Given the description of an element on the screen output the (x, y) to click on. 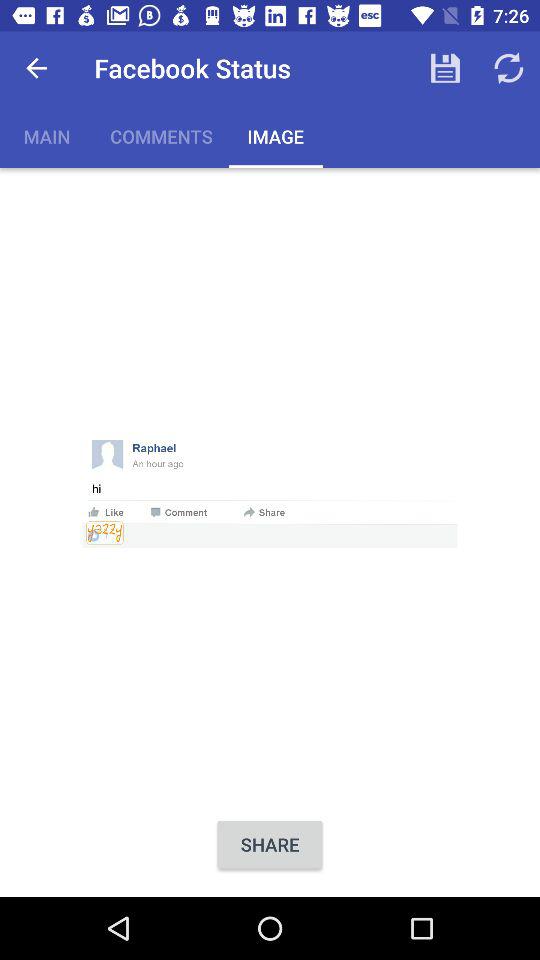
press app next to facebook status icon (36, 68)
